Given the description of an element on the screen output the (x, y) to click on. 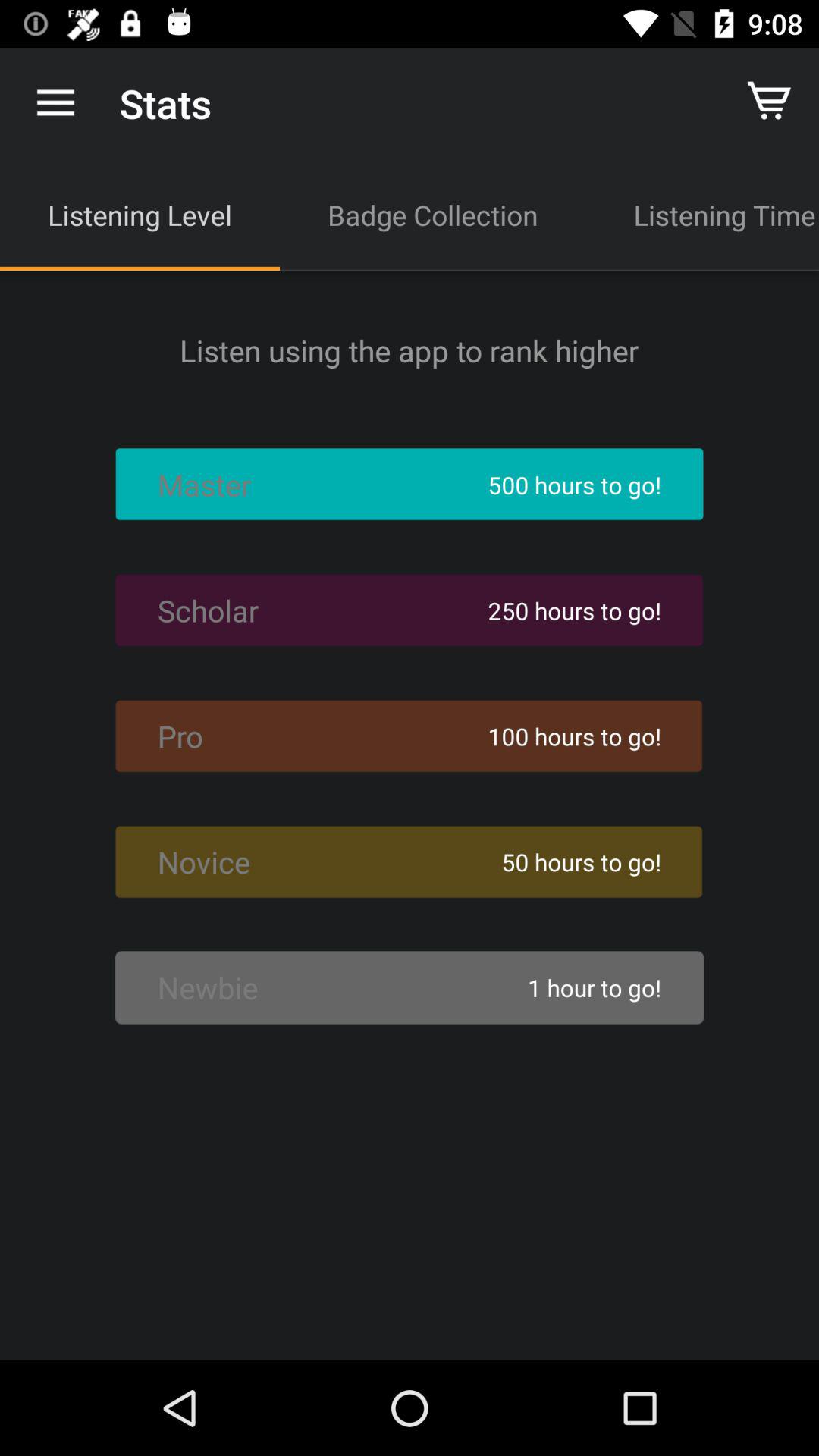
tap item to the left of the stats (55, 103)
